Given the description of an element on the screen output the (x, y) to click on. 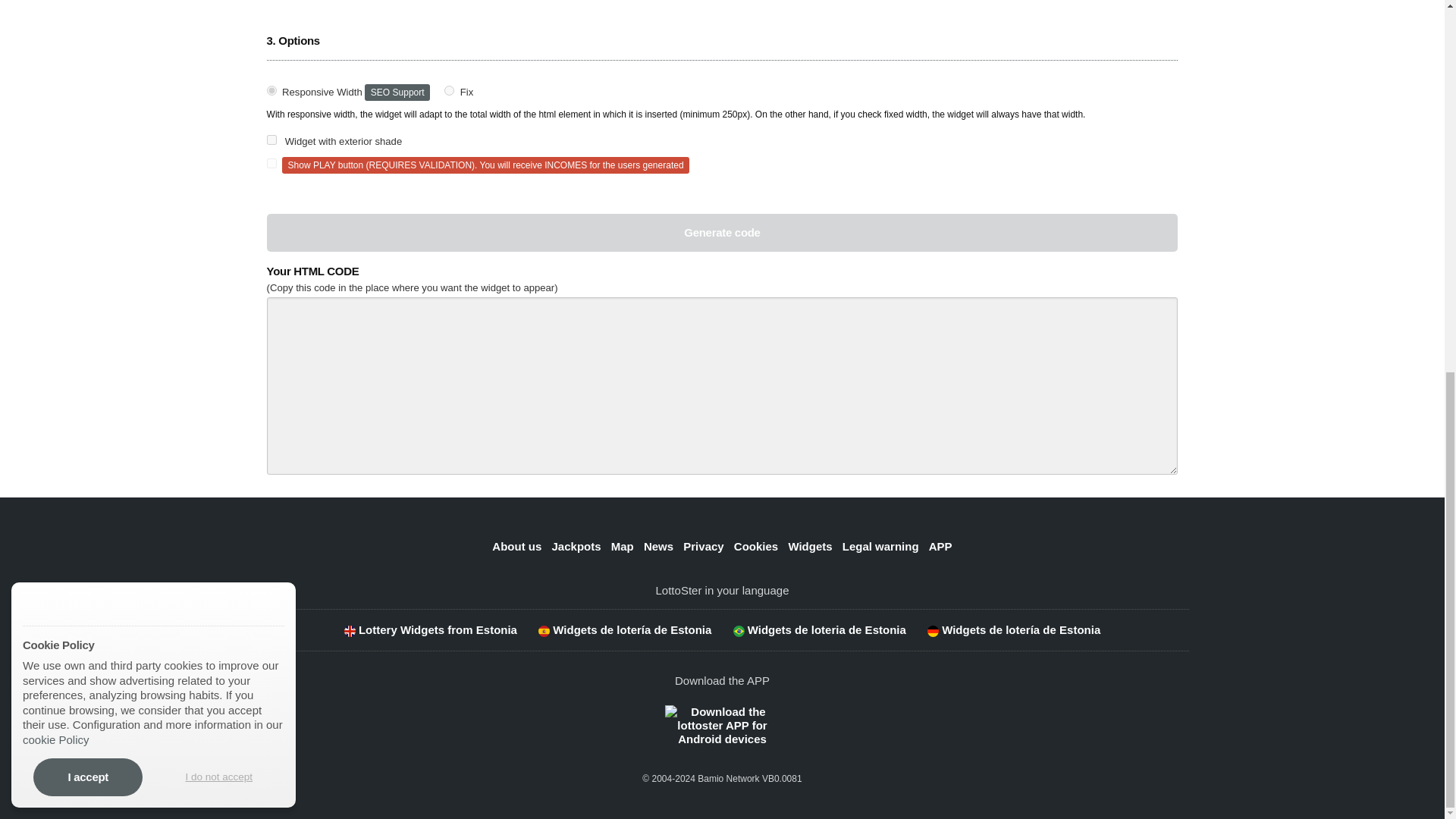
responsive (271, 90)
fixed (449, 90)
on (271, 163)
on (271, 139)
